Given the description of an element on the screen output the (x, y) to click on. 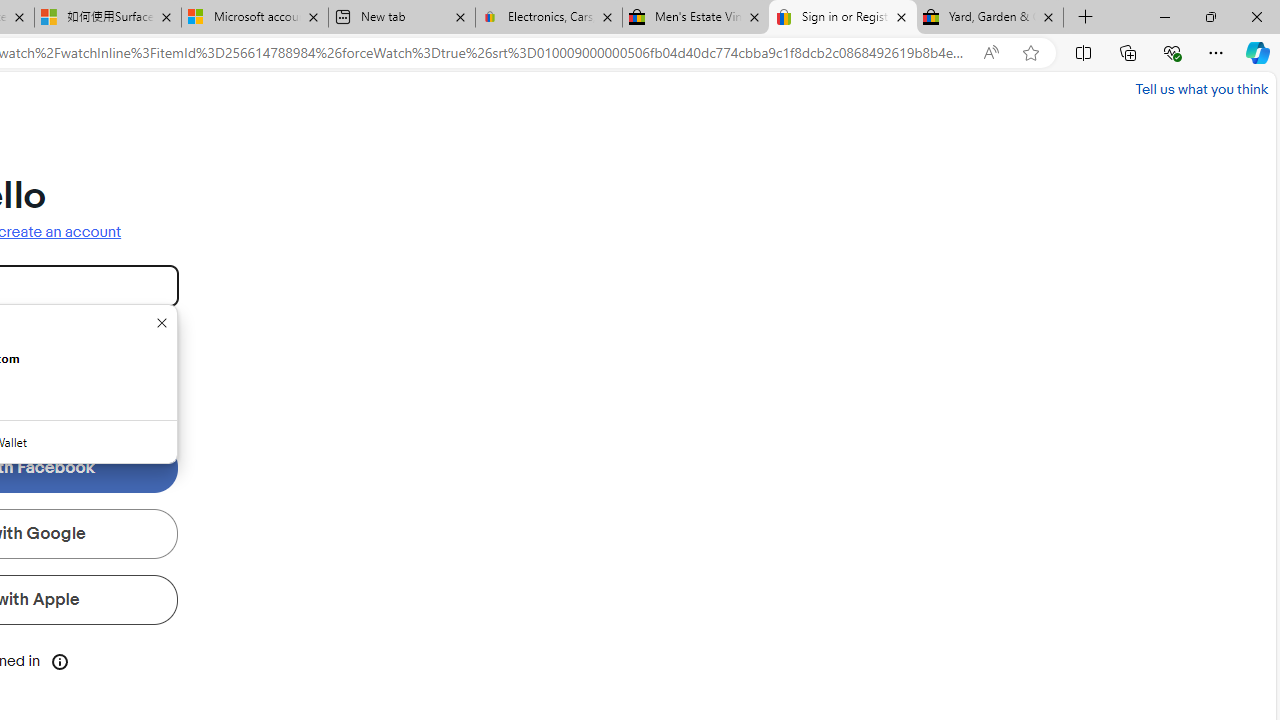
Yard, Garden & Outdoor Living (989, 17)
Microsoft account | Account Checkup (254, 17)
